Given the description of an element on the screen output the (x, y) to click on. 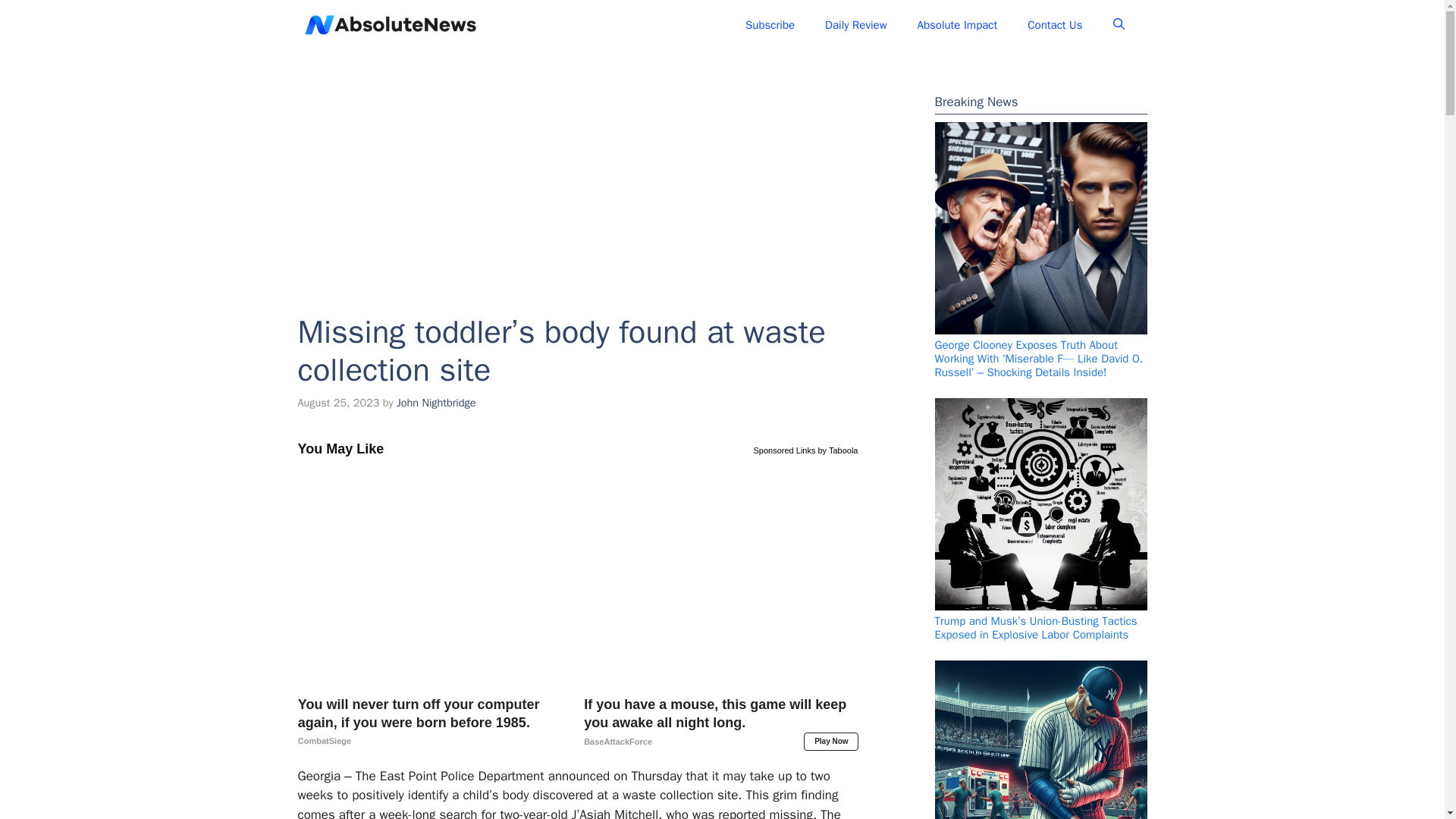
John Nightbridge (436, 402)
Subscribe (769, 23)
Absolute Impact (957, 23)
Daily Review (855, 23)
Contact Us (1054, 23)
View all posts by John Nightbridge (436, 402)
